Given the description of an element on the screen output the (x, y) to click on. 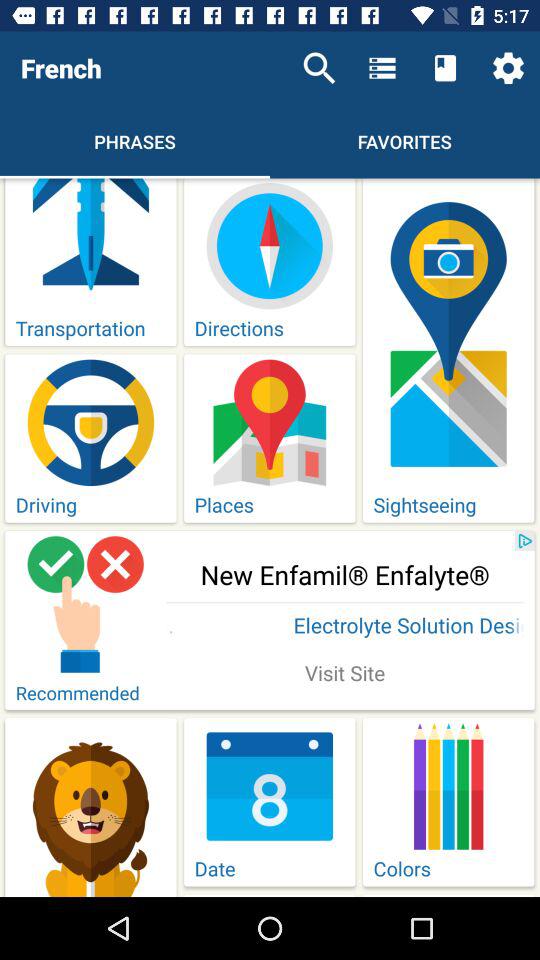
launch icon to the right of recommended icon (345, 675)
